Given the description of an element on the screen output the (x, y) to click on. 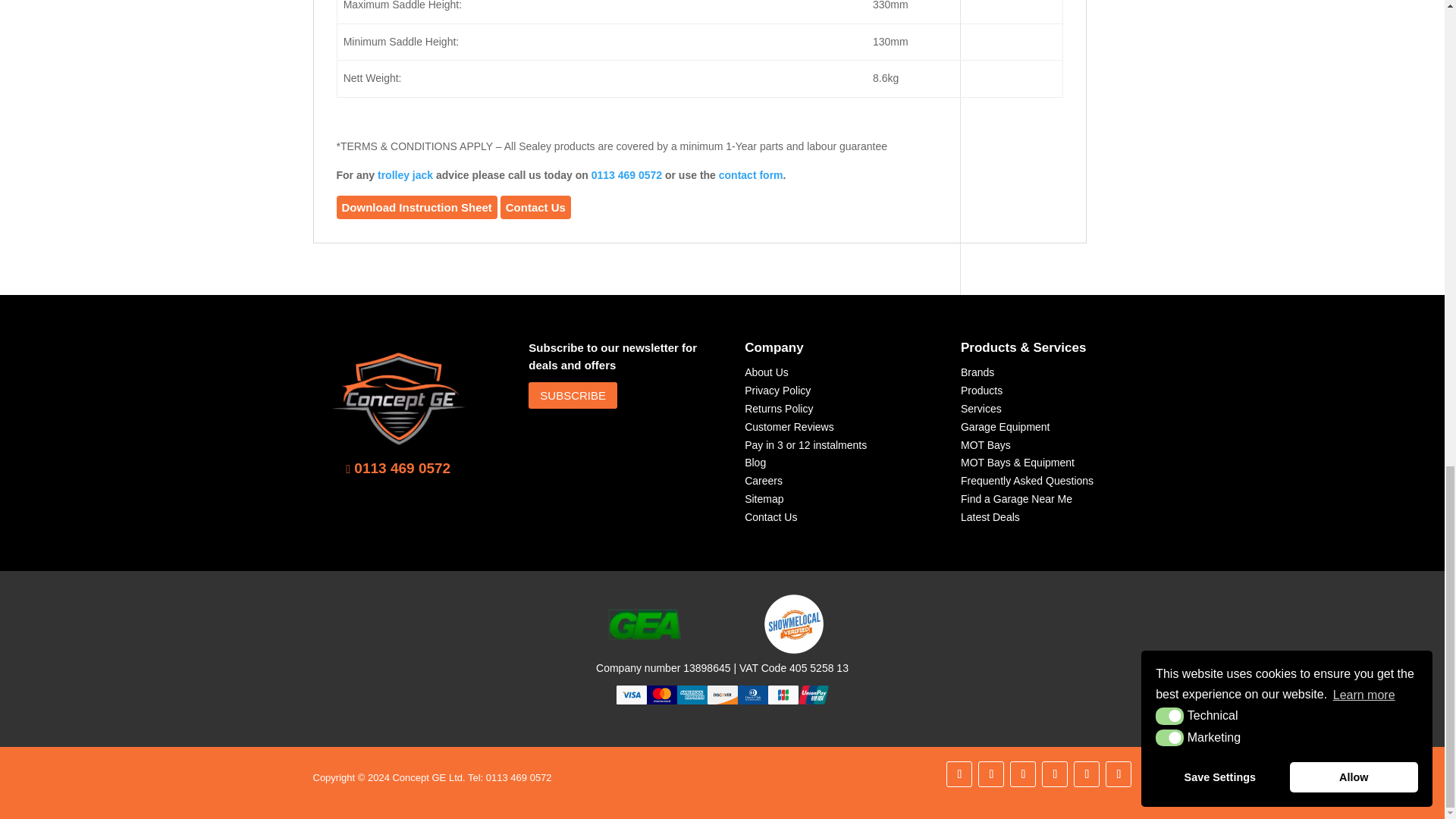
Follow on LinkedIn (959, 774)
Follow on Facebook (991, 774)
Follow on Youtube (1086, 774)
Concept Garage Equipment Logo (398, 397)
Follow on Instagram (1054, 774)
Follow on X (1022, 774)
Follow on TikTok (1118, 774)
